Given the description of an element on the screen output the (x, y) to click on. 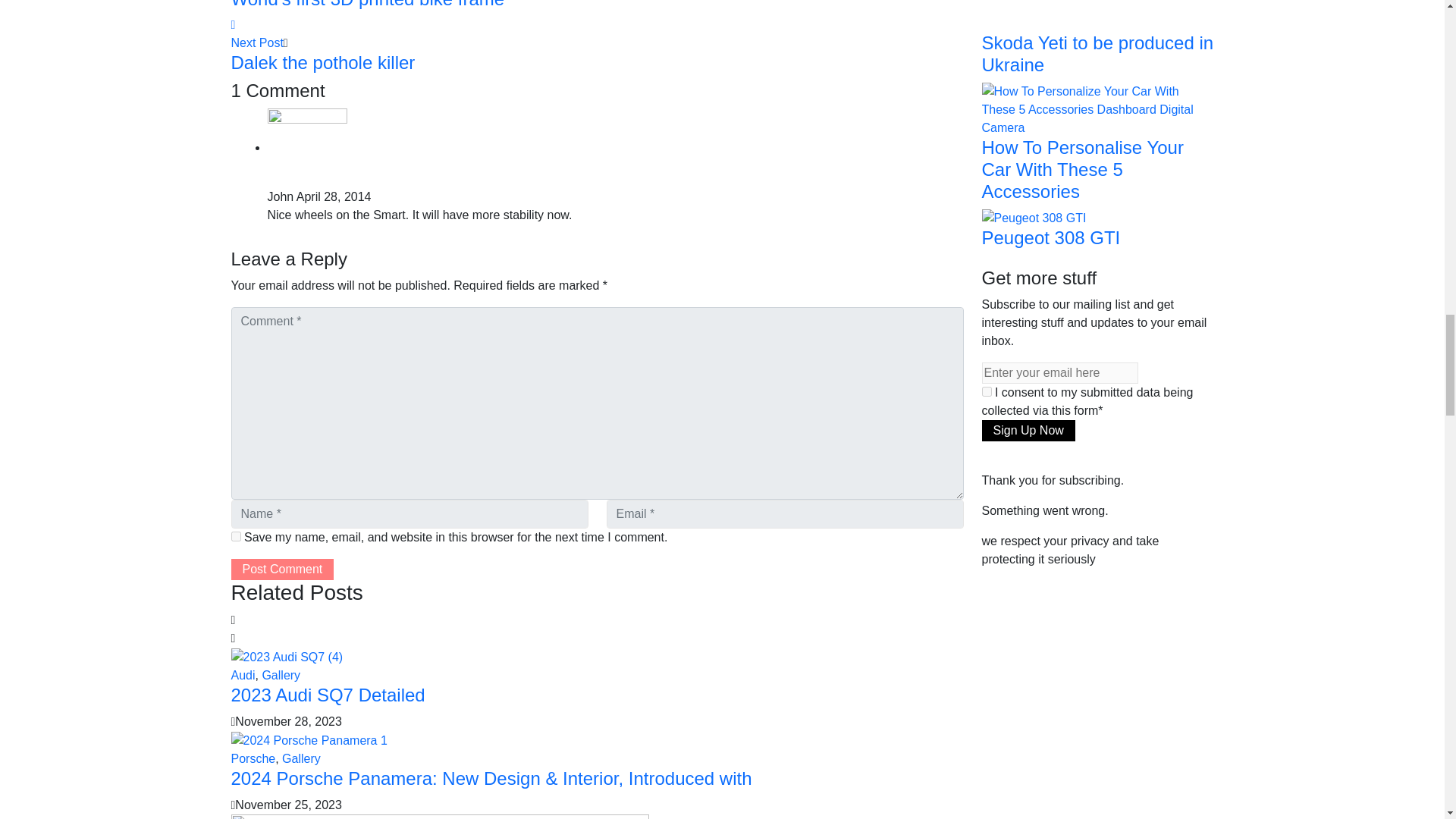
on (986, 391)
Sign Up Now (1027, 430)
How To Personalise Your Car With These 5 Accessories (1096, 108)
Post Comment (281, 568)
Peugeot 308 GTI (1033, 216)
yes (235, 536)
